Given the description of an element on the screen output the (x, y) to click on. 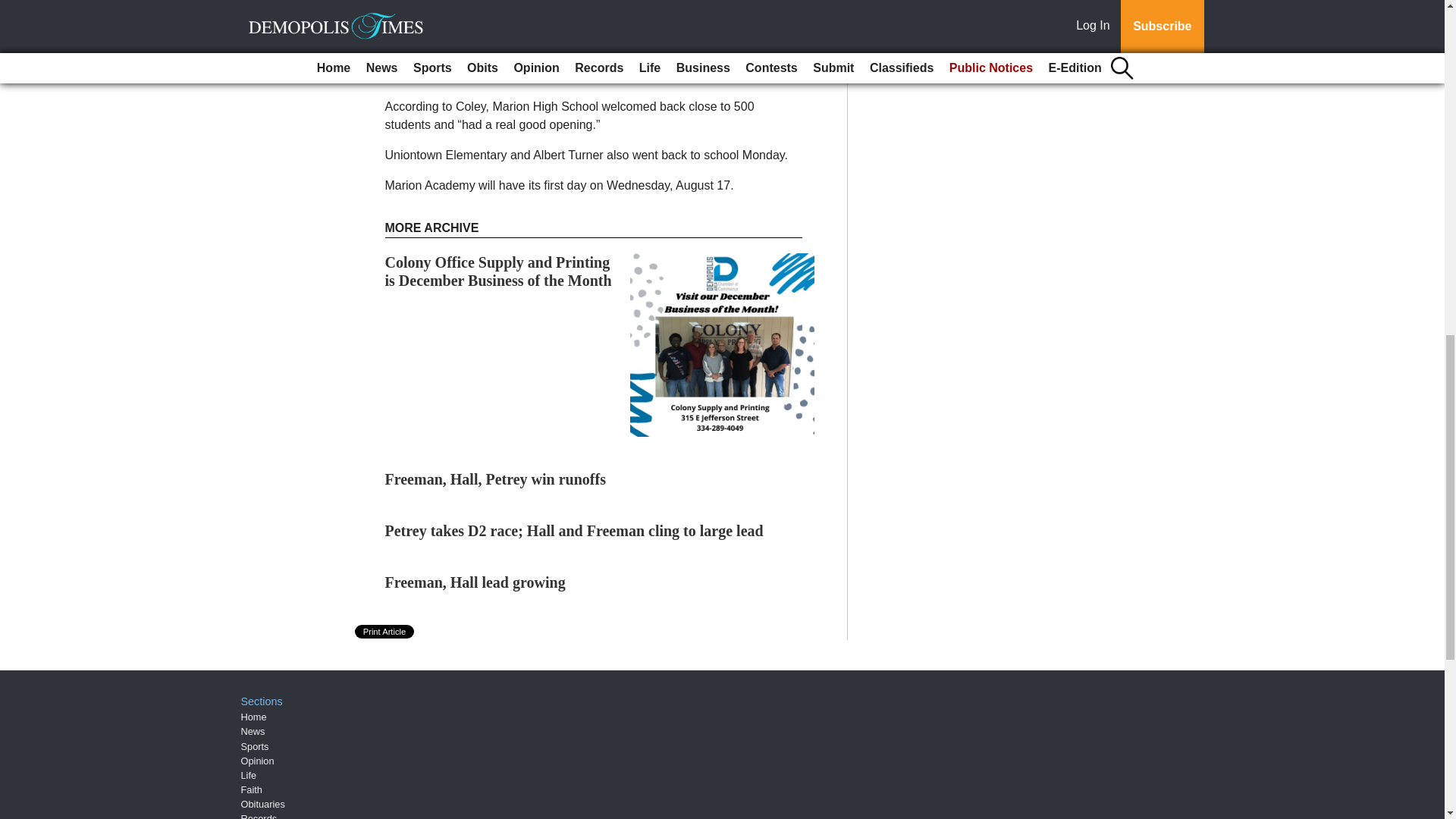
News (252, 731)
Freeman, Hall lead growing (475, 582)
Obituaries (263, 803)
Home (253, 716)
Opinion (258, 760)
Sports (255, 745)
Print Article (384, 631)
Freeman, Hall, Petrey win runoffs (495, 478)
Freeman, Hall, Petrey win runoffs (495, 478)
Life (249, 775)
Freeman, Hall lead growing (475, 582)
Petrey takes D2 race; Hall and Freeman cling to large lead (573, 530)
Petrey takes D2 race; Hall and Freeman cling to large lead (573, 530)
